Given the description of an element on the screen output the (x, y) to click on. 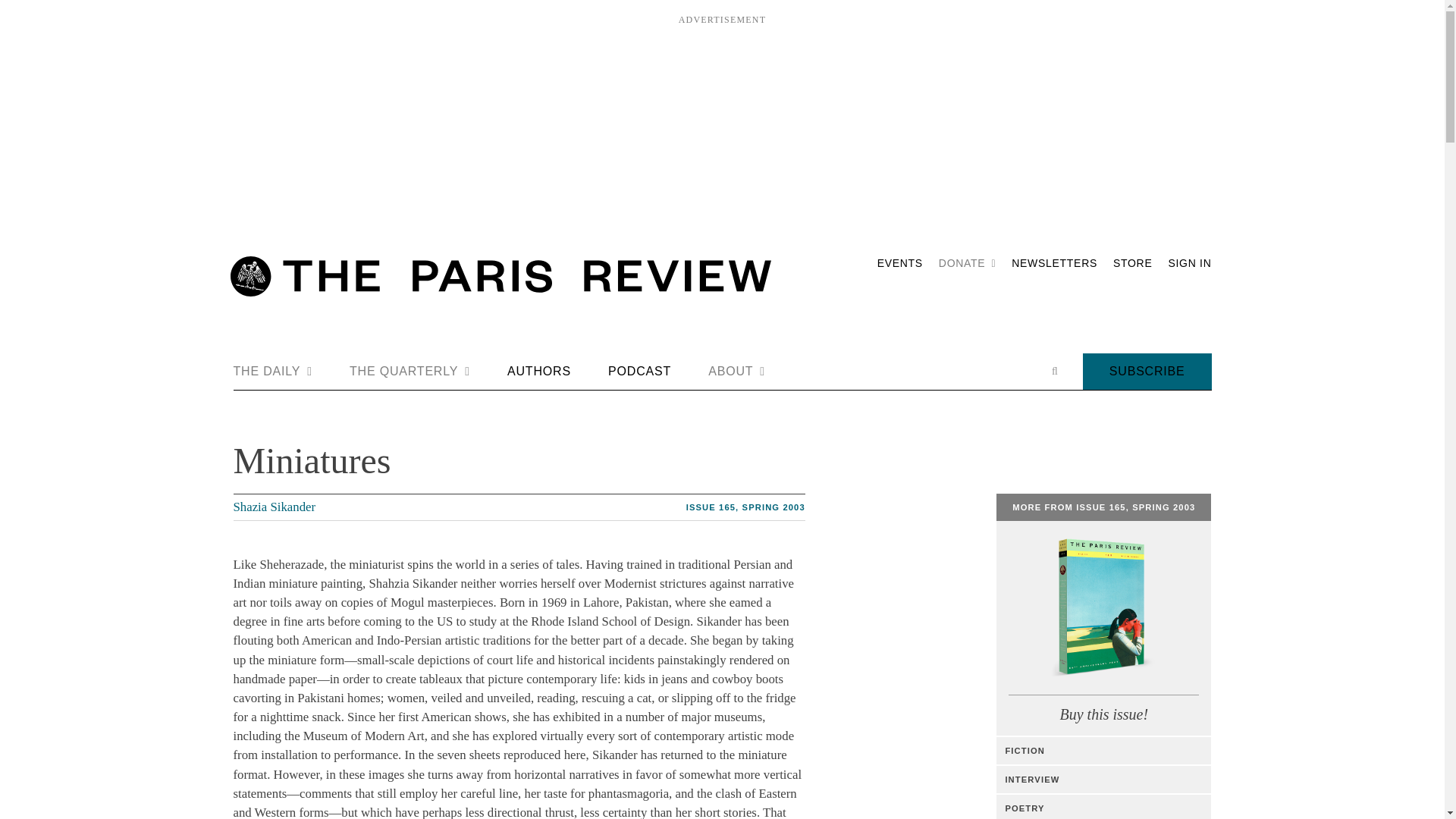
THE DAILY (272, 371)
THE QUARTERLY (409, 371)
Open search (1054, 371)
